Given the description of an element on the screen output the (x, y) to click on. 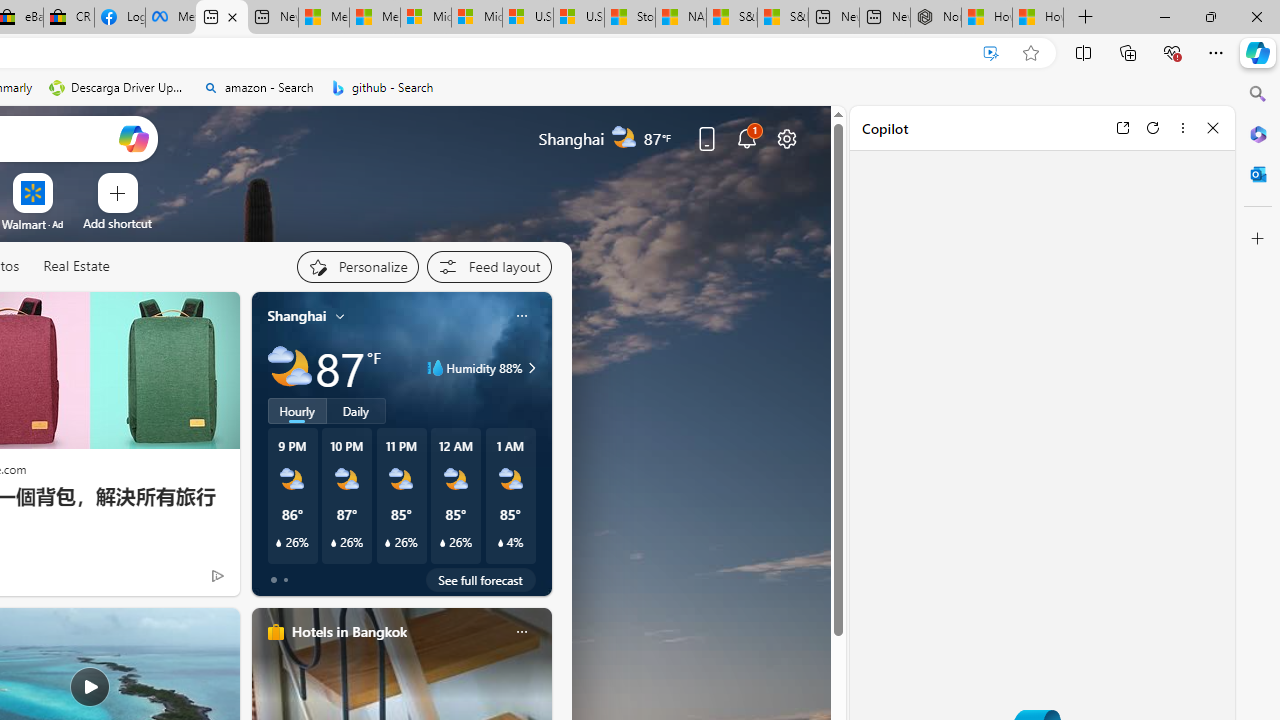
Add this page to favorites (Ctrl+D) (1030, 53)
